Given the description of an element on the screen output the (x, y) to click on. 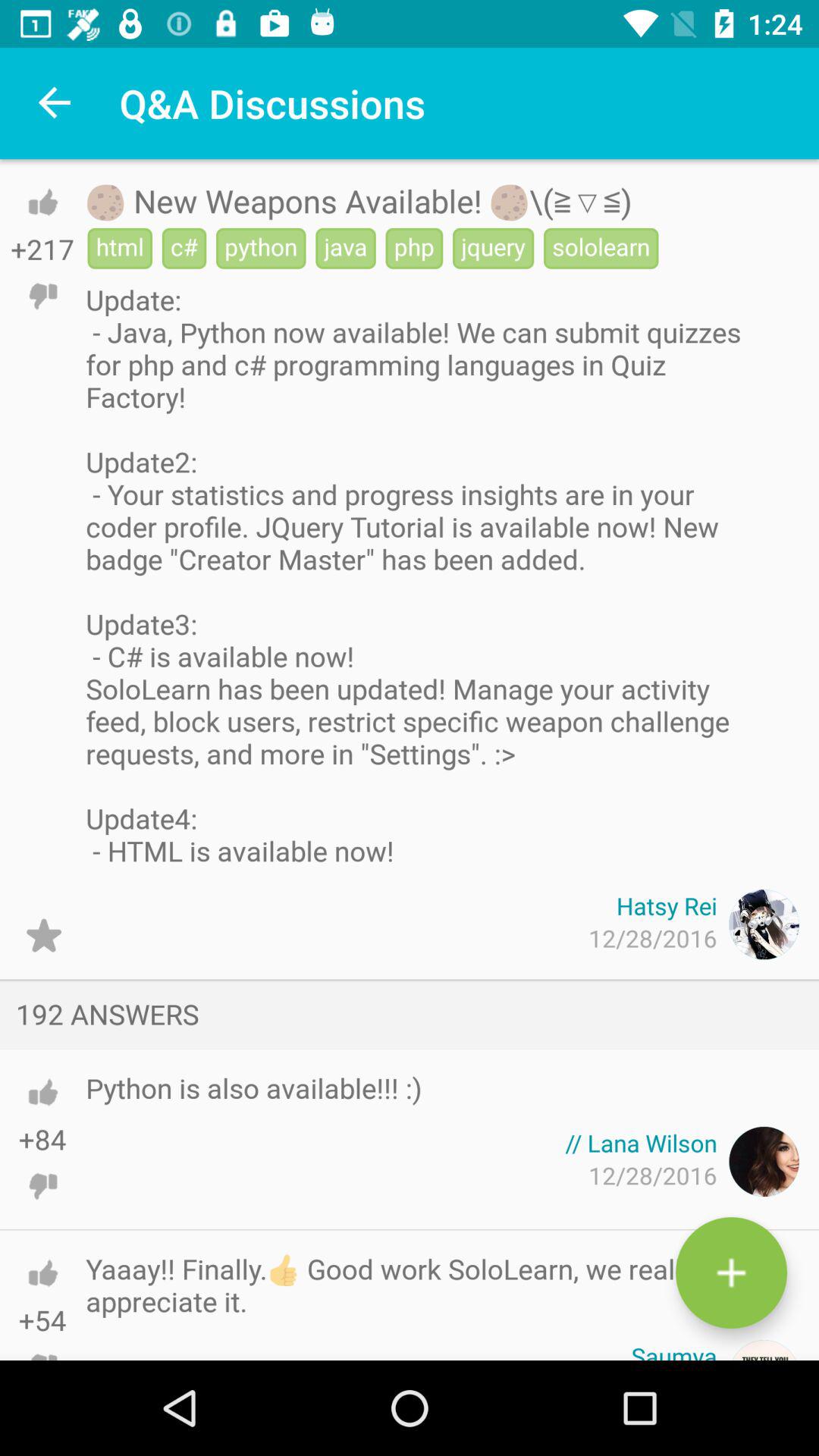
switch like option (42, 1092)
